Given the description of an element on the screen output the (x, y) to click on. 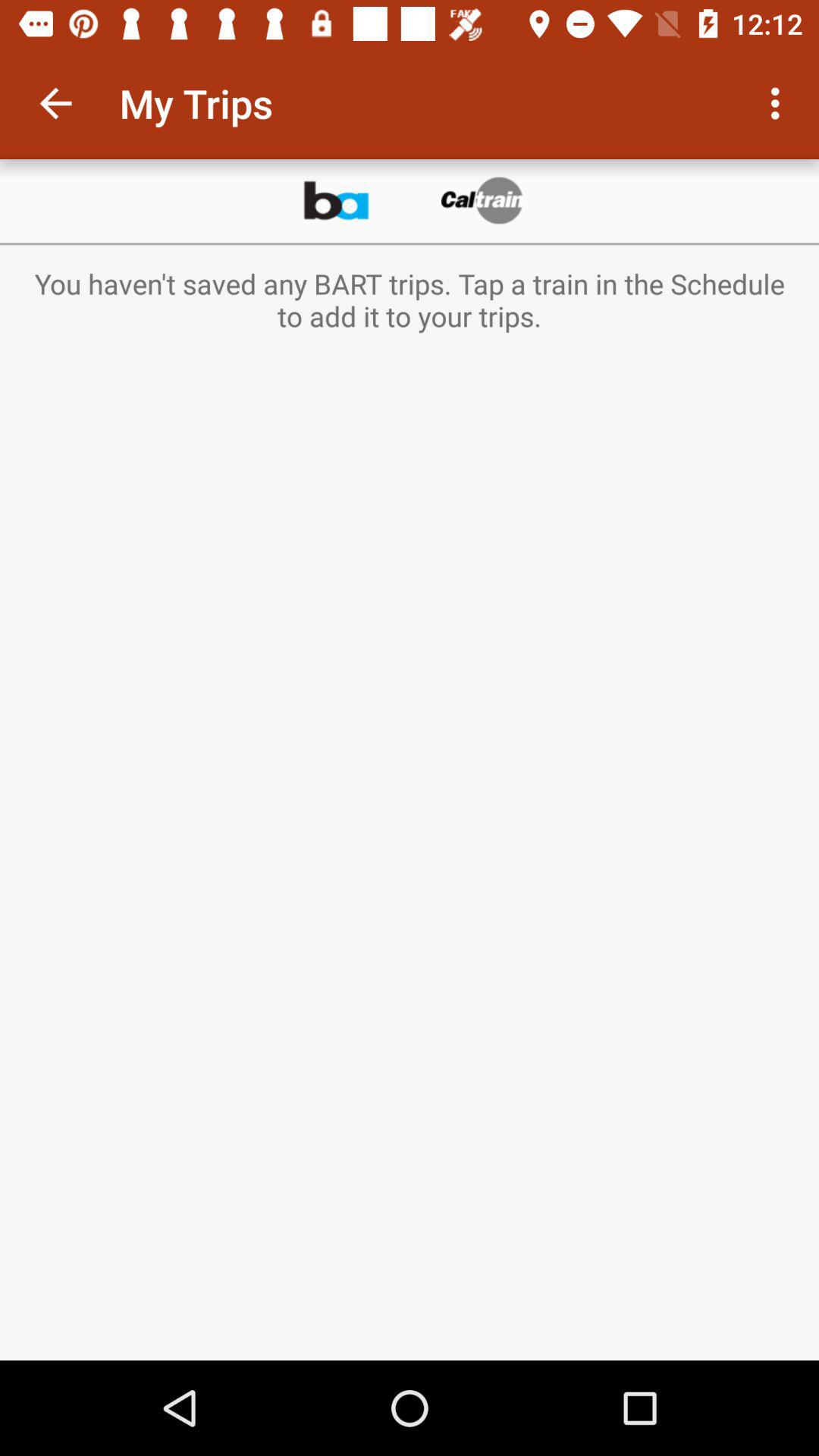
payment option (482, 200)
